Given the description of an element on the screen output the (x, y) to click on. 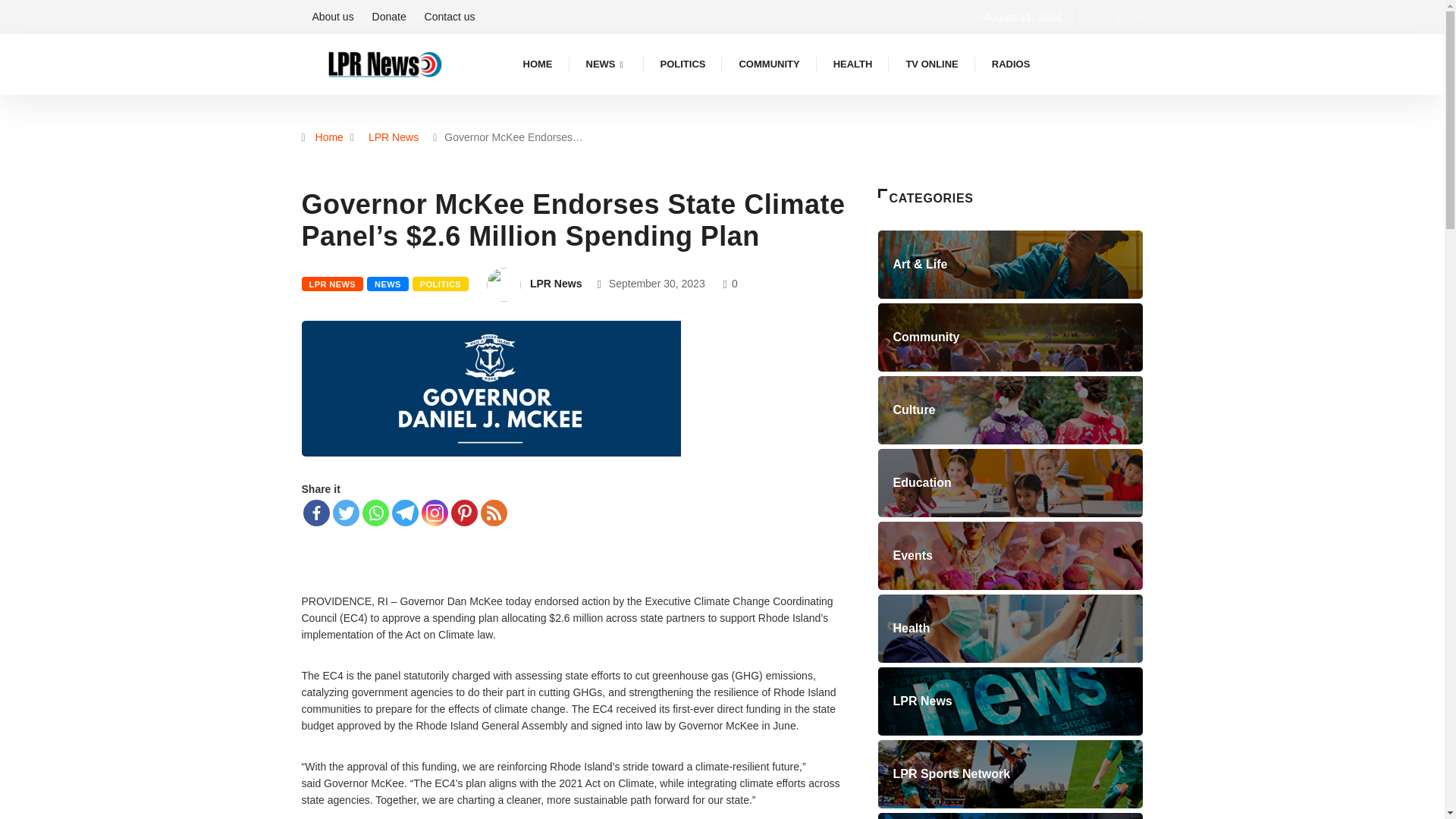
LPR News (554, 283)
RADIOS (1010, 64)
Contact us (450, 16)
TV ONLINE (931, 64)
POLITICS (682, 64)
Instagram (435, 512)
LPR News (393, 137)
POLITICS (440, 283)
NEWS (606, 64)
LPR NEWS (332, 283)
